Given the description of an element on the screen output the (x, y) to click on. 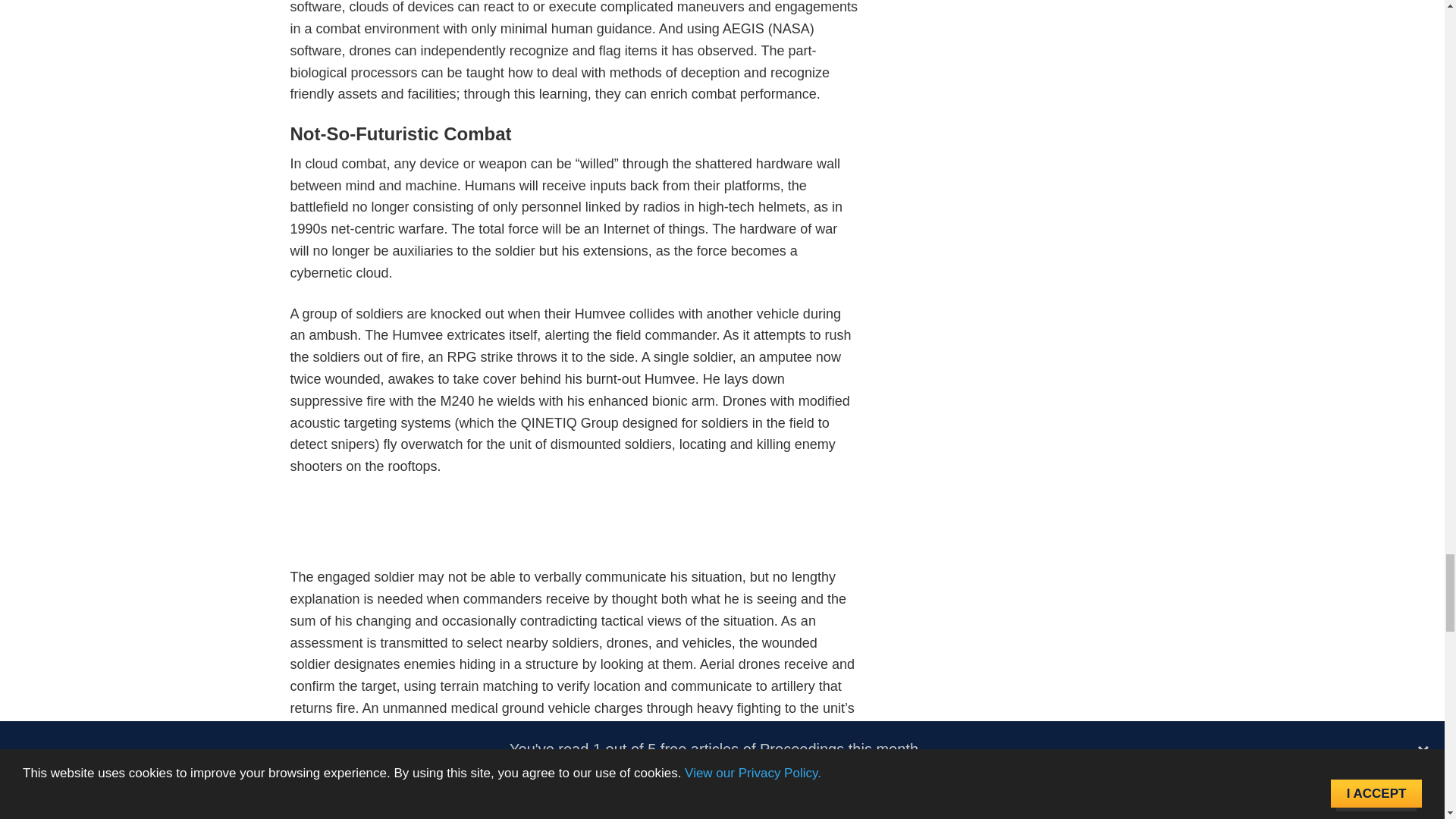
3rd party ad content (574, 531)
